Given the description of an element on the screen output the (x, y) to click on. 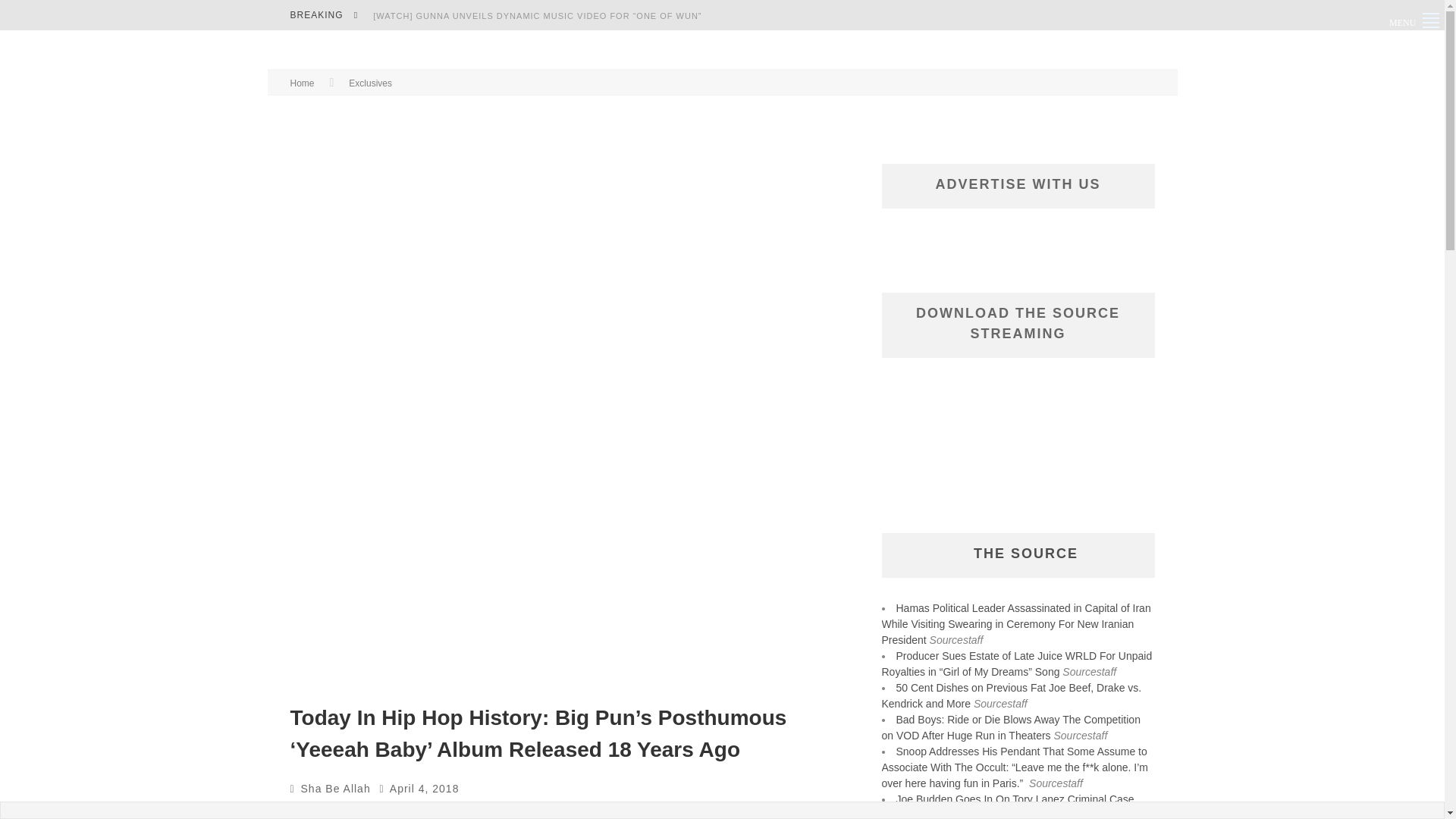
View all posts in Exclusives (370, 82)
View all posts in Exclusives (329, 811)
News Exclusives (689, 811)
Exclusives (370, 82)
Sha Be Allah (336, 788)
Exclusives (329, 811)
feature (384, 811)
Home (301, 82)
View all posts in feature (384, 811)
View all posts in News Exclusives (689, 811)
